Given the description of an element on the screen output the (x, y) to click on. 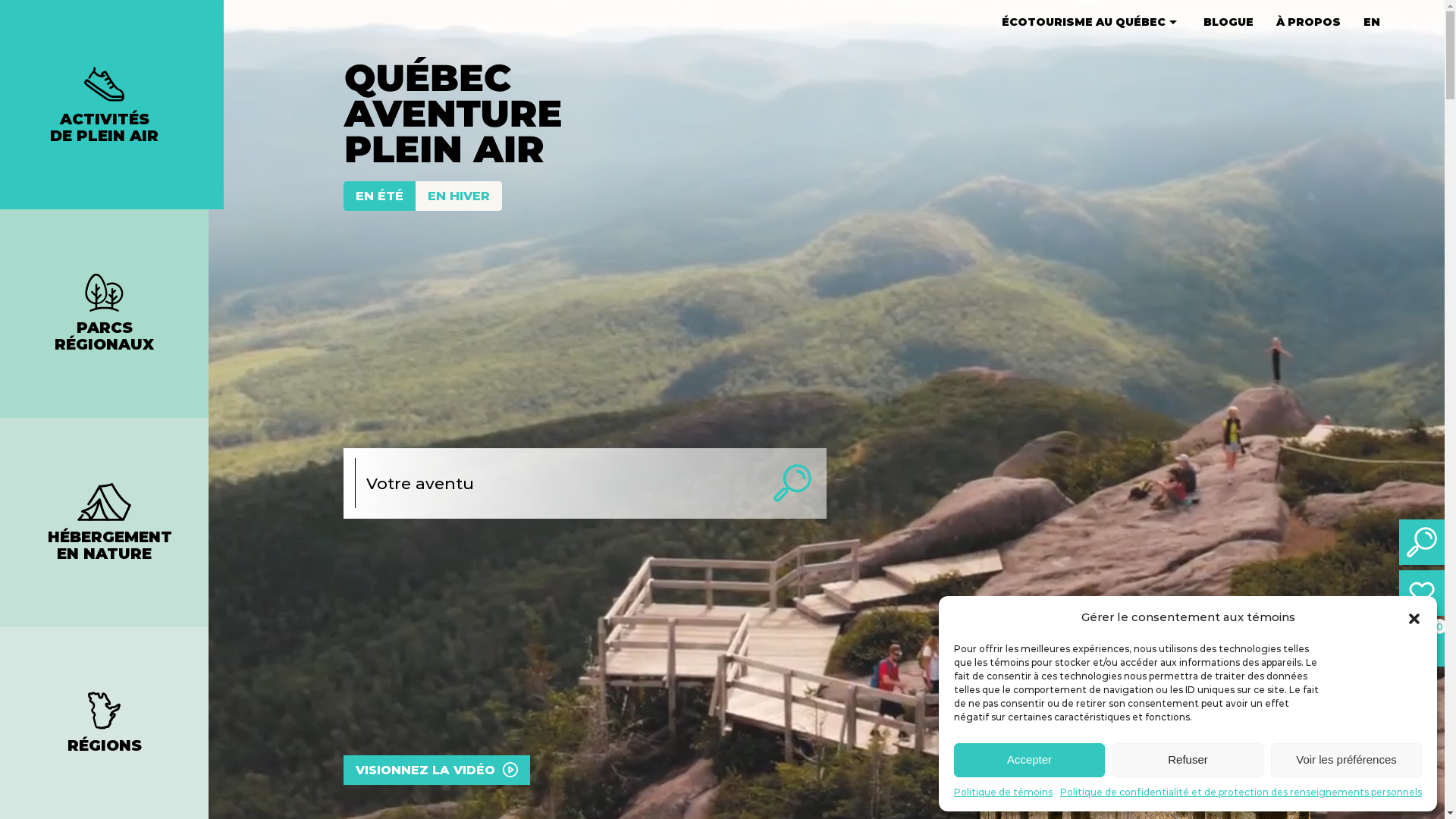
EN HIVER Element type: text (458, 195)
EN Element type: text (1371, 22)
Refuser Element type: text (1187, 760)
BLOGUE Element type: text (1228, 22)
Accepter Element type: text (1028, 760)
0 Element type: text (1421, 643)
